Given the description of an element on the screen output the (x, y) to click on. 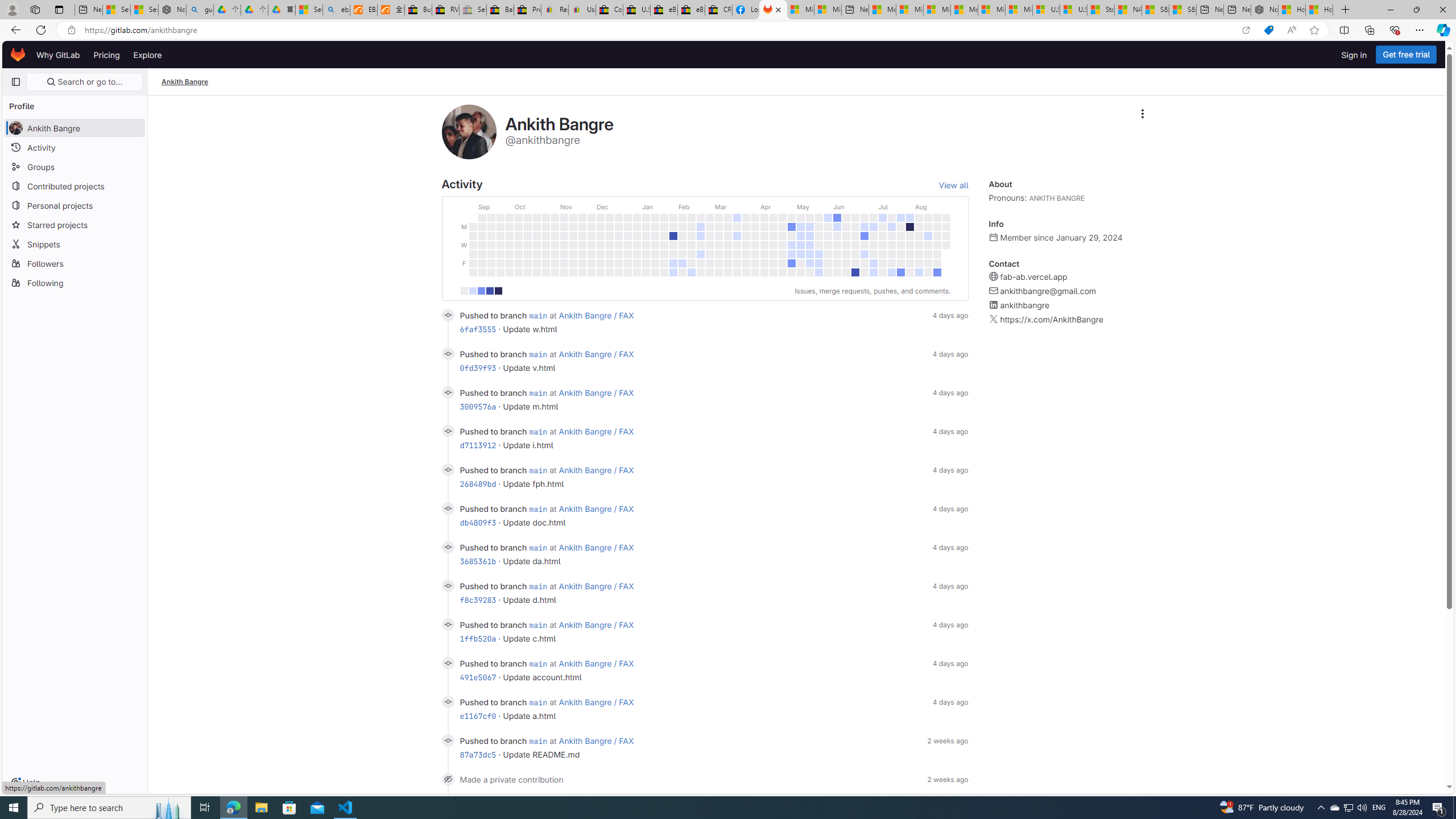
Groups (74, 166)
avatar (15, 128)
ankithbangre (1024, 305)
